Given the description of an element on the screen output the (x, y) to click on. 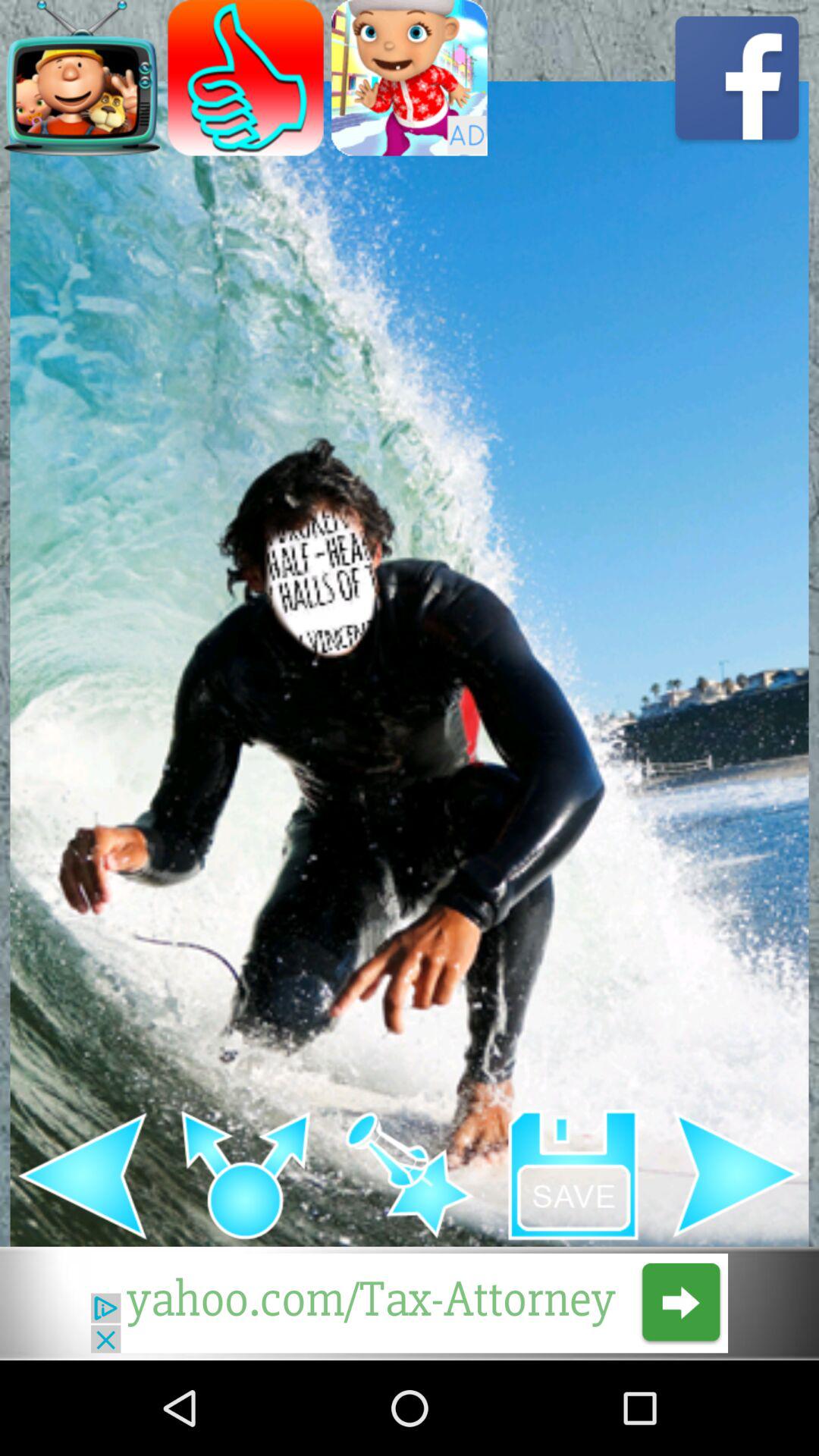
toggle the lik ebutton (245, 77)
